Given the description of an element on the screen output the (x, y) to click on. 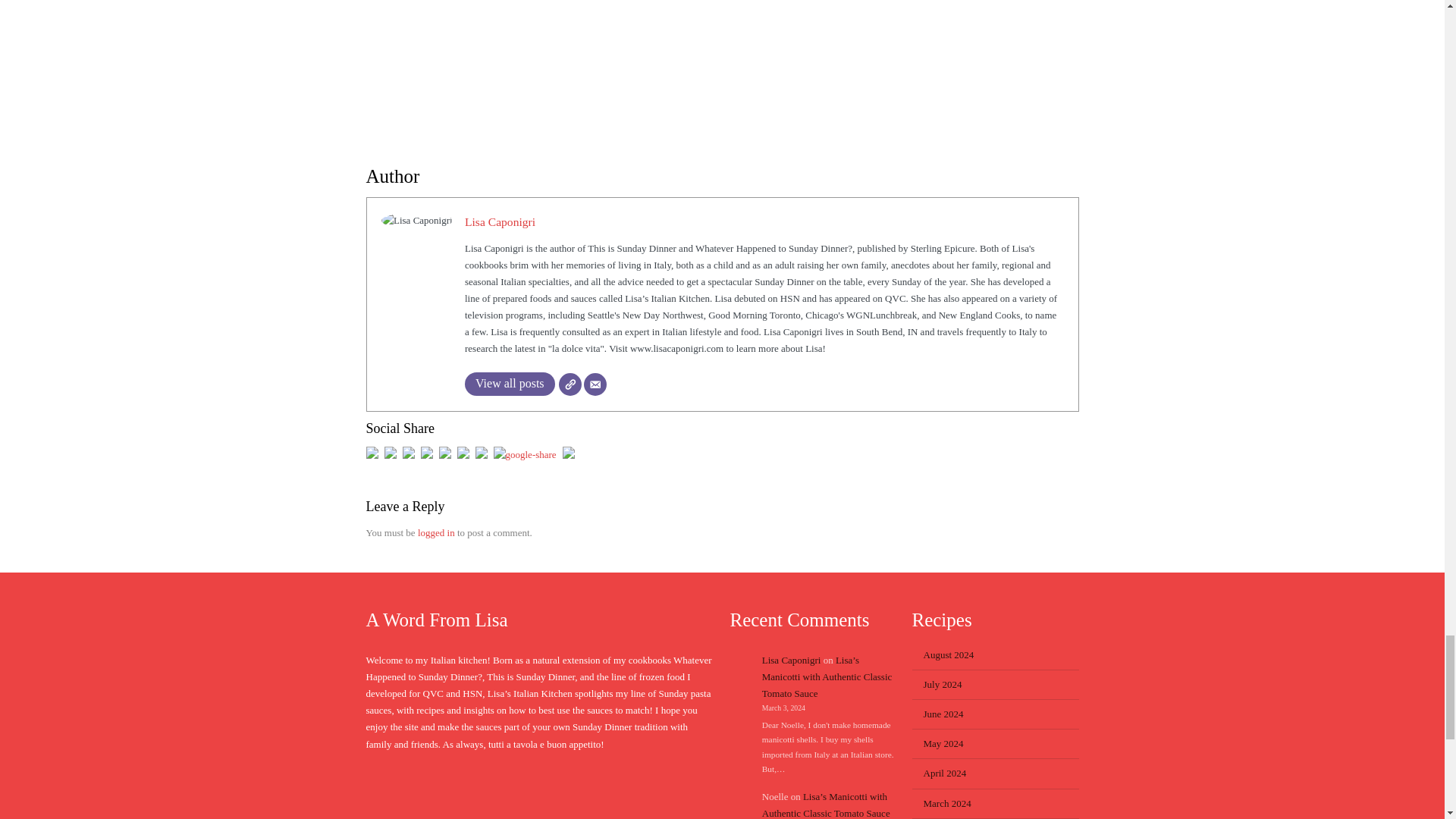
Lisa Caponigri (499, 221)
View all posts (509, 383)
View all posts (509, 383)
Lisa Caponigri (499, 221)
